Given the description of an element on the screen output the (x, y) to click on. 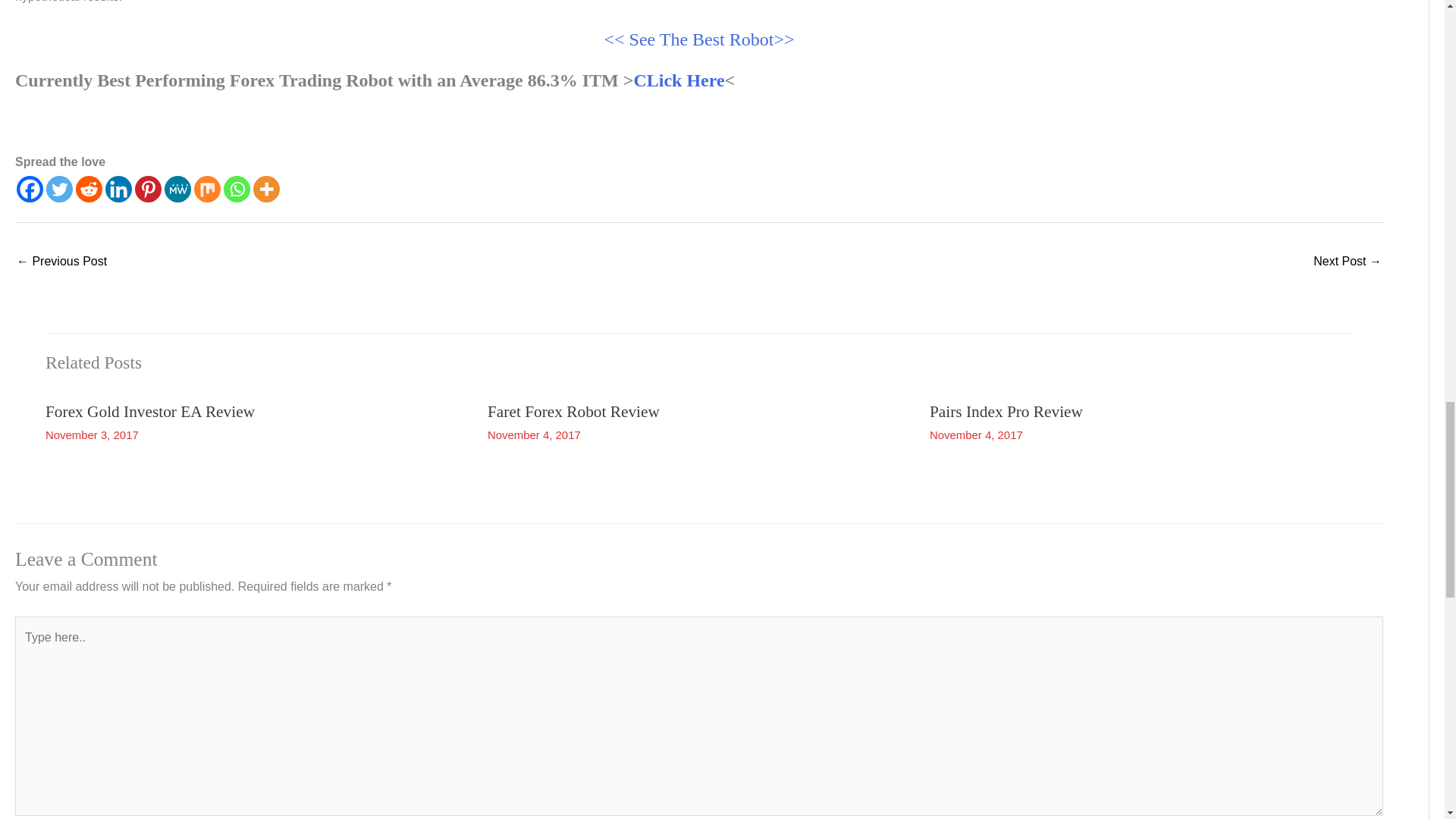
MeWe (177, 189)
Mix (207, 189)
Facebook (29, 189)
Twitter (59, 189)
Pinterest (148, 189)
Whatsapp (237, 189)
Linkedin (118, 189)
CLick Here (678, 80)
Reddit (88, 189)
Forex Gold Investor EA Review (149, 411)
